Given the description of an element on the screen output the (x, y) to click on. 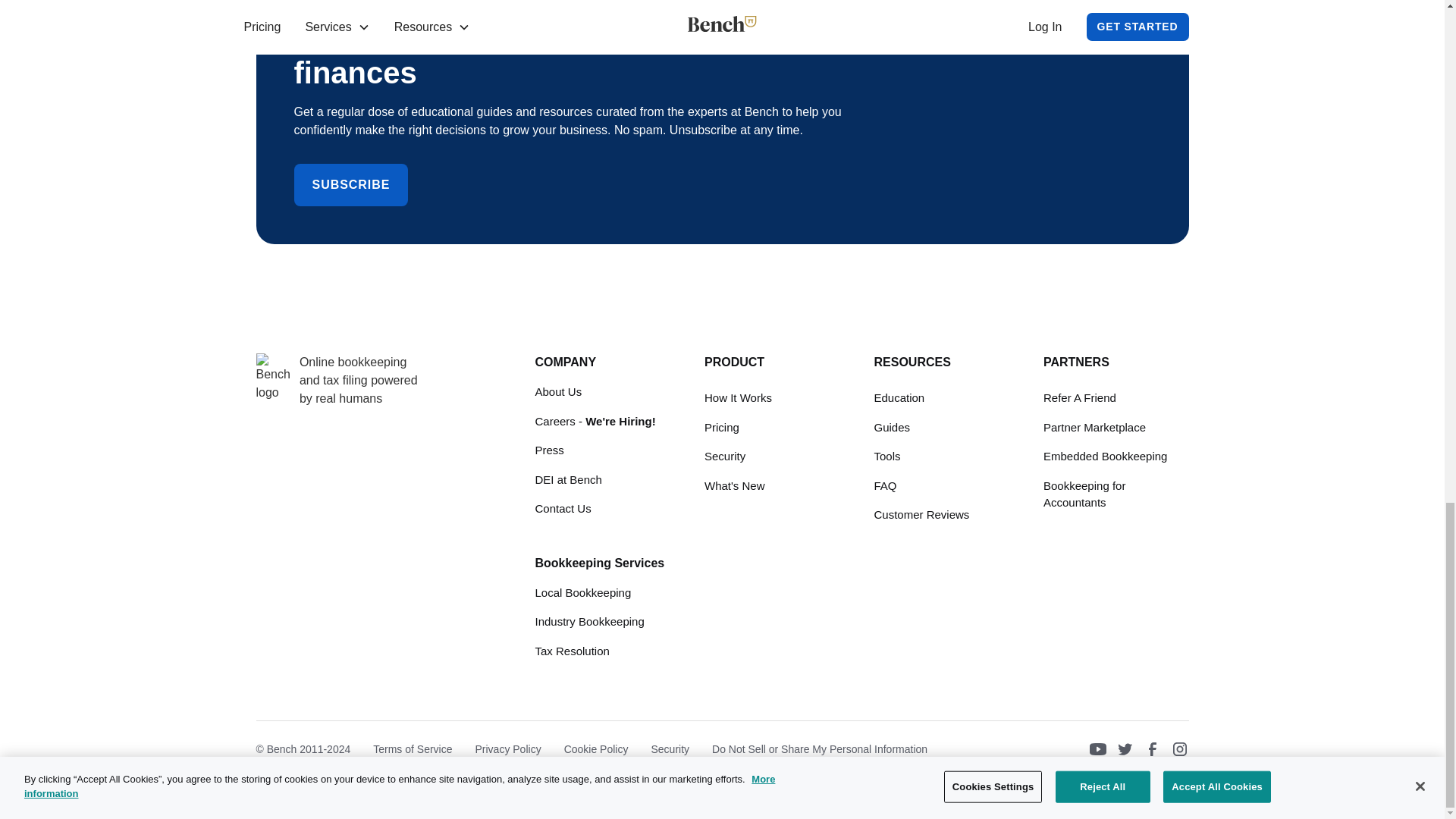
What's New (734, 486)
About Us (558, 392)
Careers - We're Hiring! (595, 421)
Contact Us (563, 508)
Tax Resolution (572, 651)
Industry Bookkeeping (590, 621)
Customer Reviews (921, 515)
Education (898, 398)
Security (724, 456)
SUBSCRIBE (351, 184)
